Given the description of an element on the screen output the (x, y) to click on. 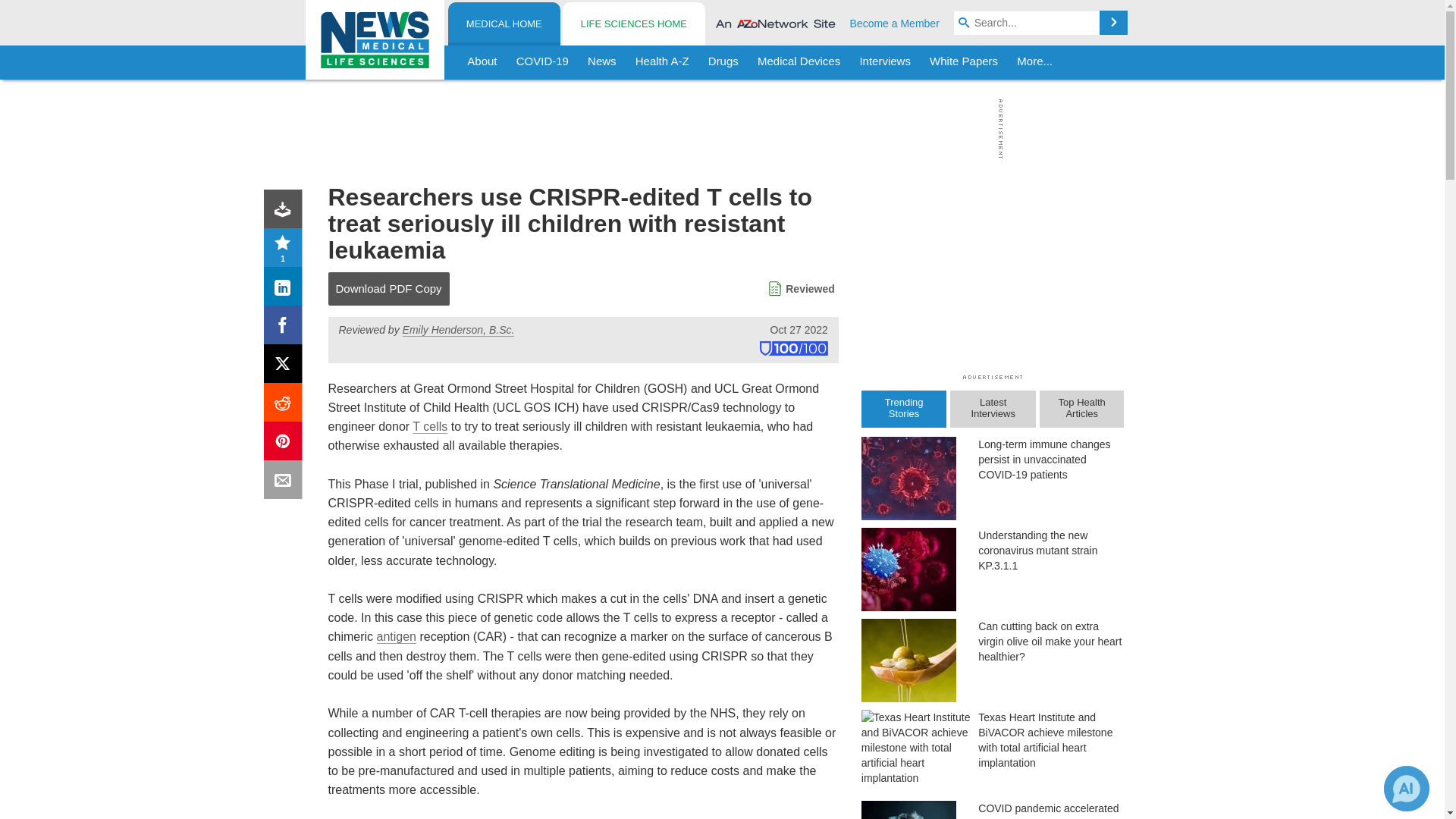
Facebook (285, 328)
MEDICAL HOME (504, 23)
COVID-19 (542, 62)
News (601, 62)
X (285, 366)
LIFE SCIENCES HOME (633, 23)
Reddit (285, 405)
Download PDF copy (285, 212)
More... (1035, 62)
Health A-Z (662, 62)
Medical Devices (798, 62)
About (482, 62)
Drugs (722, 62)
Email (285, 483)
